Given the description of an element on the screen output the (x, y) to click on. 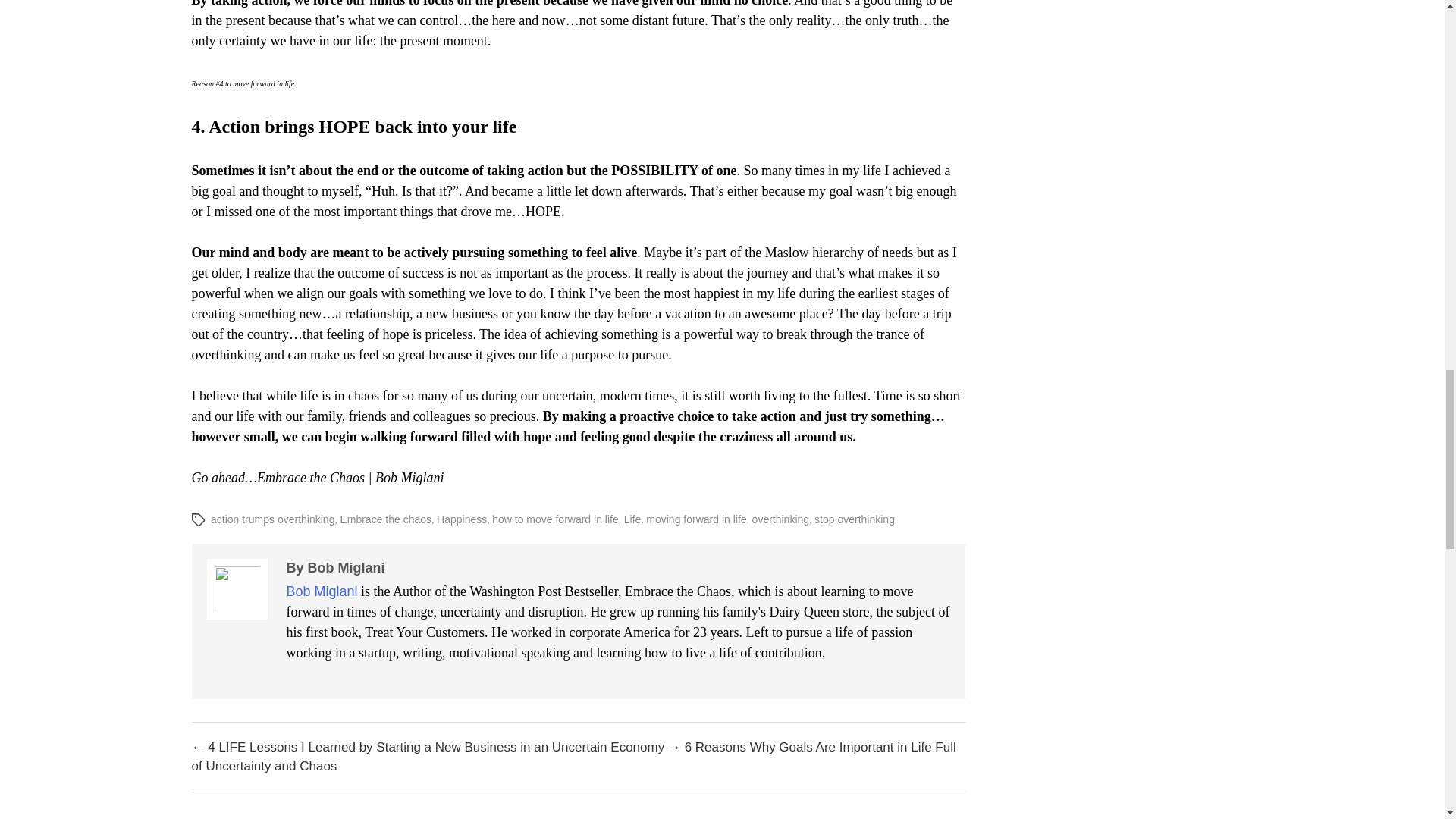
overthinking (780, 519)
how to move forward in life (555, 519)
Happiness (461, 519)
Bob Miglani (322, 590)
stop overthinking (854, 519)
moving forward in life (695, 519)
Life (633, 519)
action trumps overthinking (272, 519)
Embrace the chaos (384, 519)
